Given the description of an element on the screen output the (x, y) to click on. 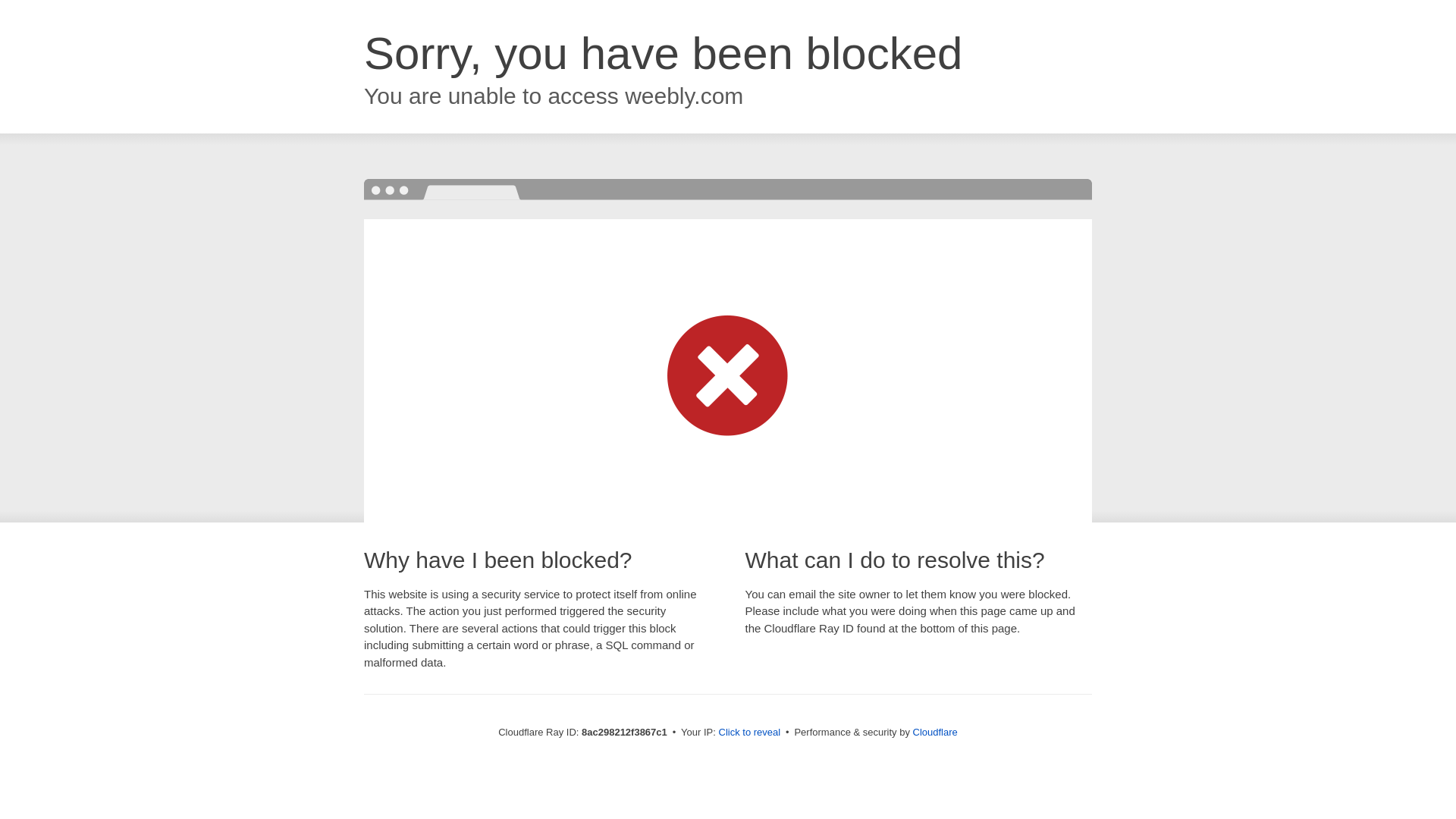
Cloudflare (935, 731)
Click to reveal (749, 732)
